Given the description of an element on the screen output the (x, y) to click on. 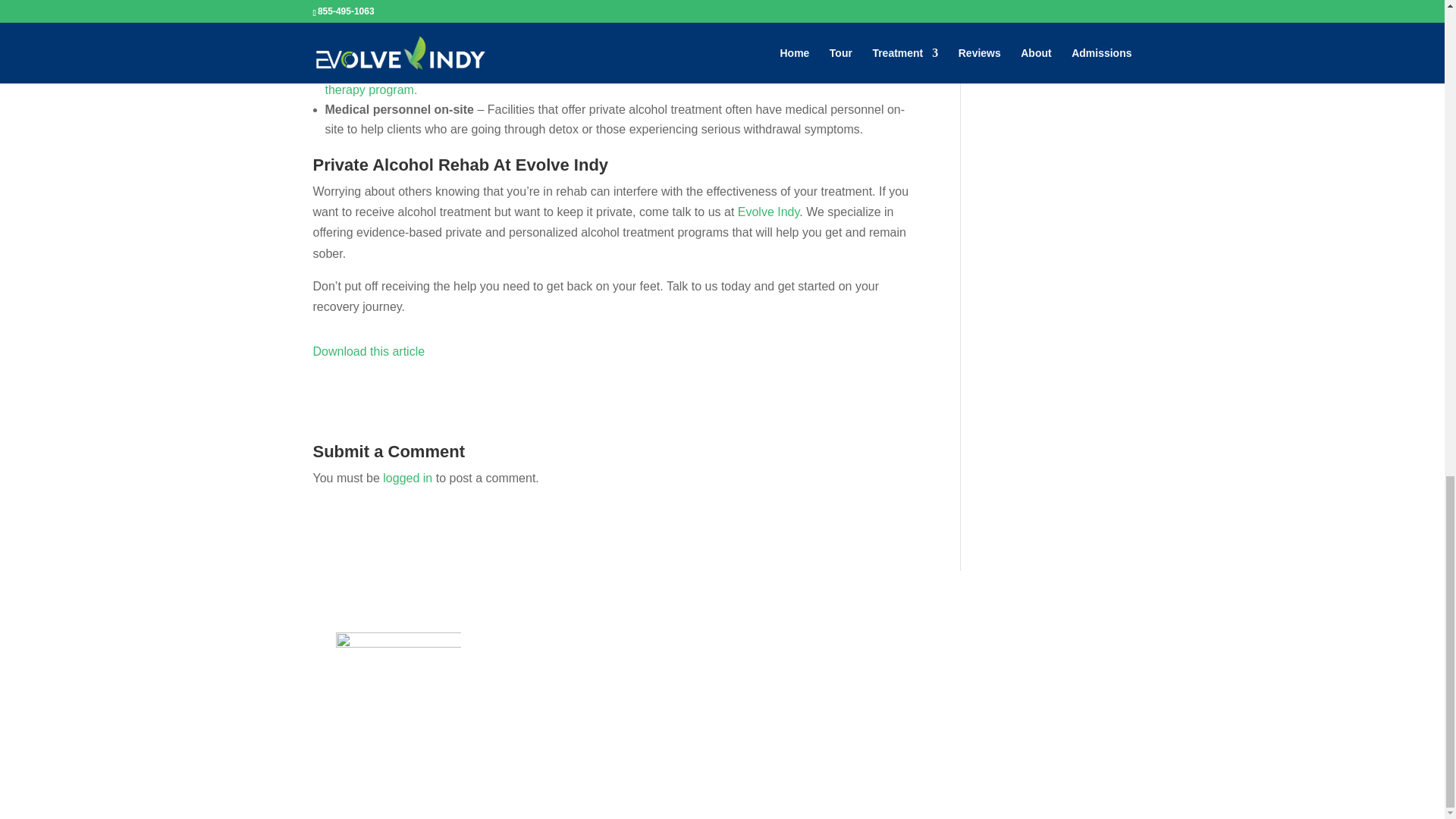
logged in (407, 477)
Evolve Indy (766, 211)
impactwellnessnetwork (397, 694)
Intensive outpatient (506, 50)
family therapy program. (614, 79)
Download this article (369, 350)
partial hospitalization programs (660, 50)
outpatient treatment programs (601, 40)
